Given the description of an element on the screen output the (x, y) to click on. 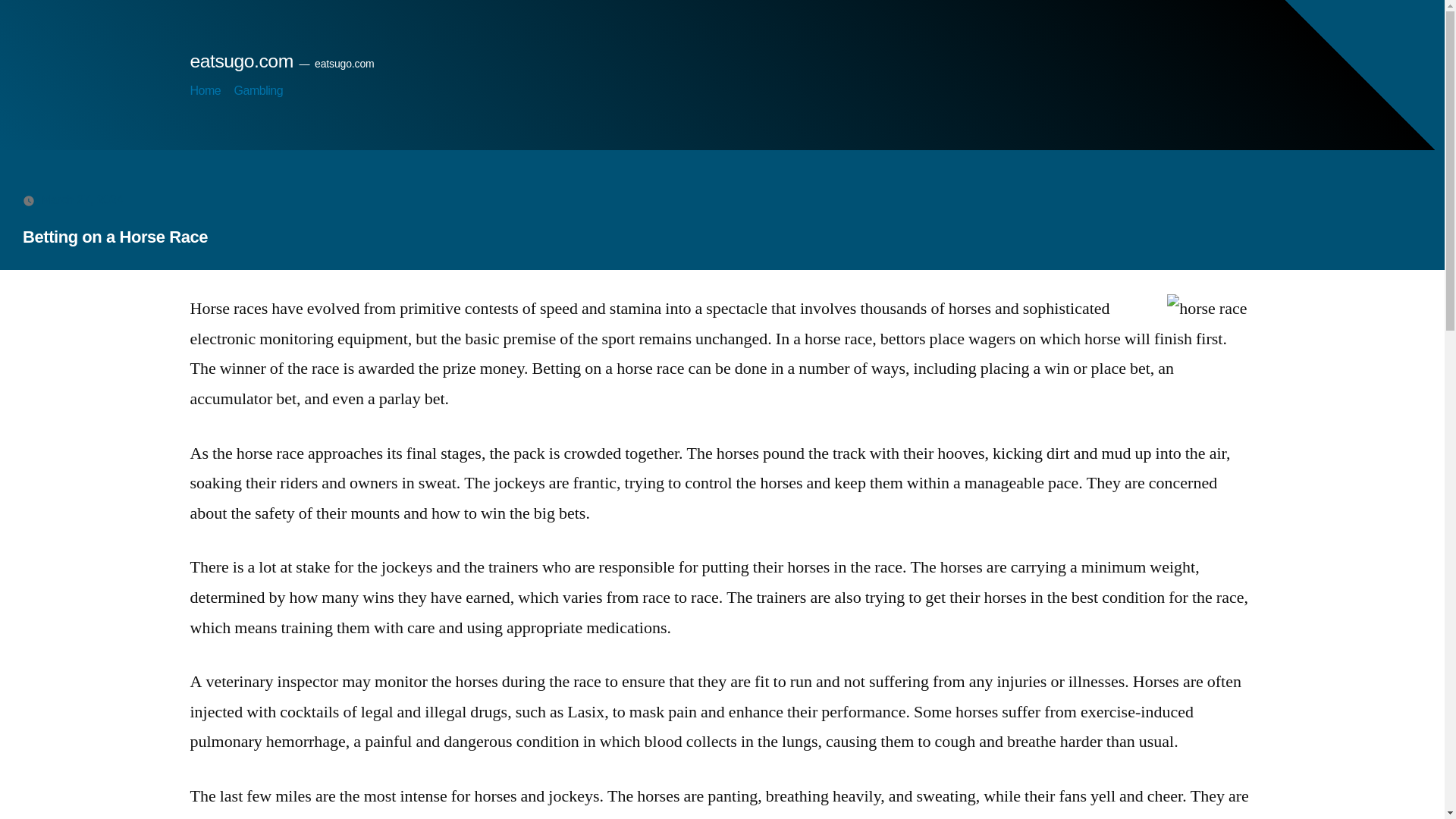
Home (205, 90)
Gambling (258, 90)
eatsugo.com (240, 60)
March 27, 2024 (81, 199)
